Given the description of an element on the screen output the (x, y) to click on. 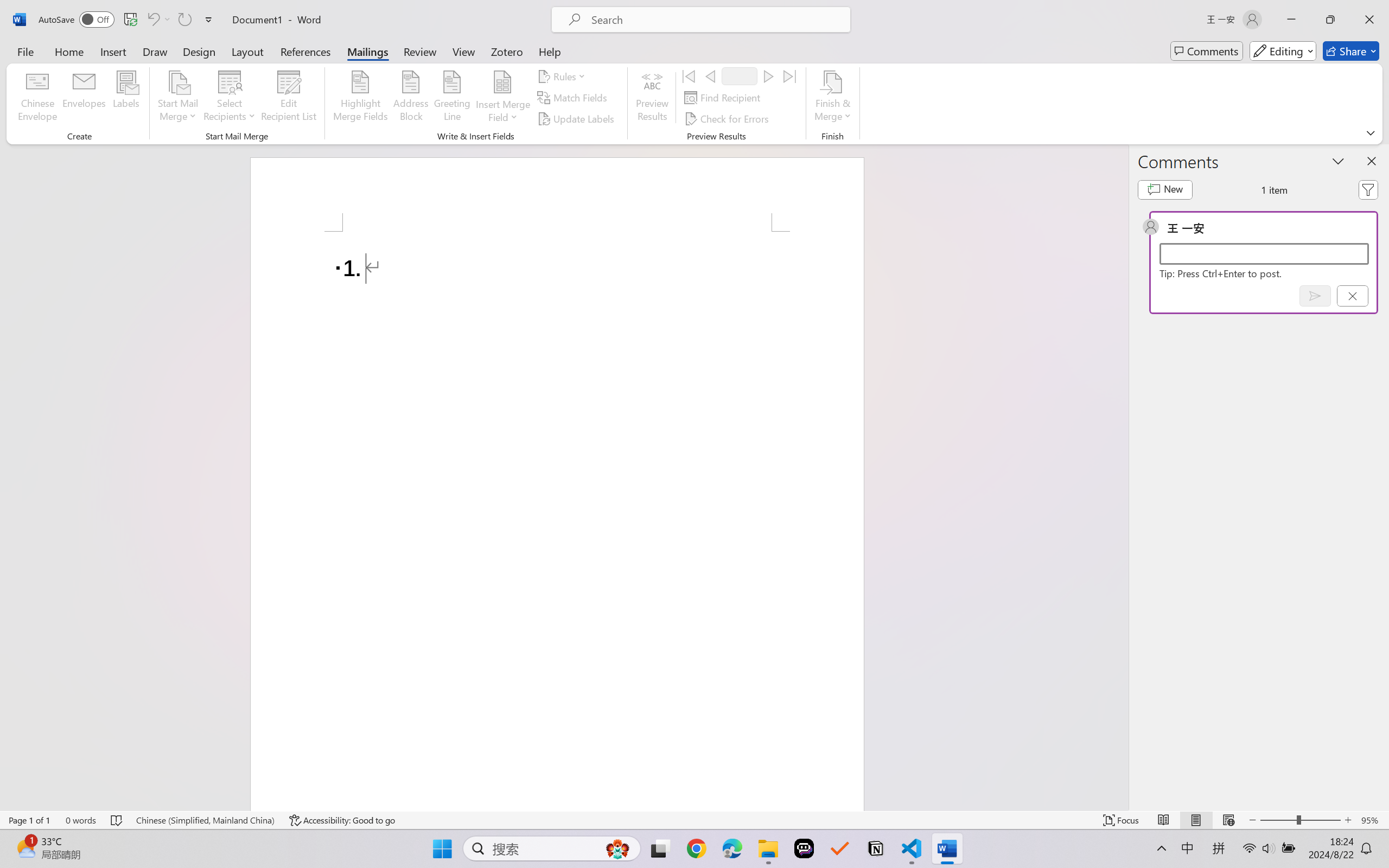
Change Case (263, 71)
Font Color Red (305, 71)
Left Brace (562, 72)
Translator (1377, 132)
Curve (550, 72)
An abstract genetic concept (697, 420)
Text Highlight Color Yellow (283, 71)
Romanian (1237, 246)
